Given the description of an element on the screen output the (x, y) to click on. 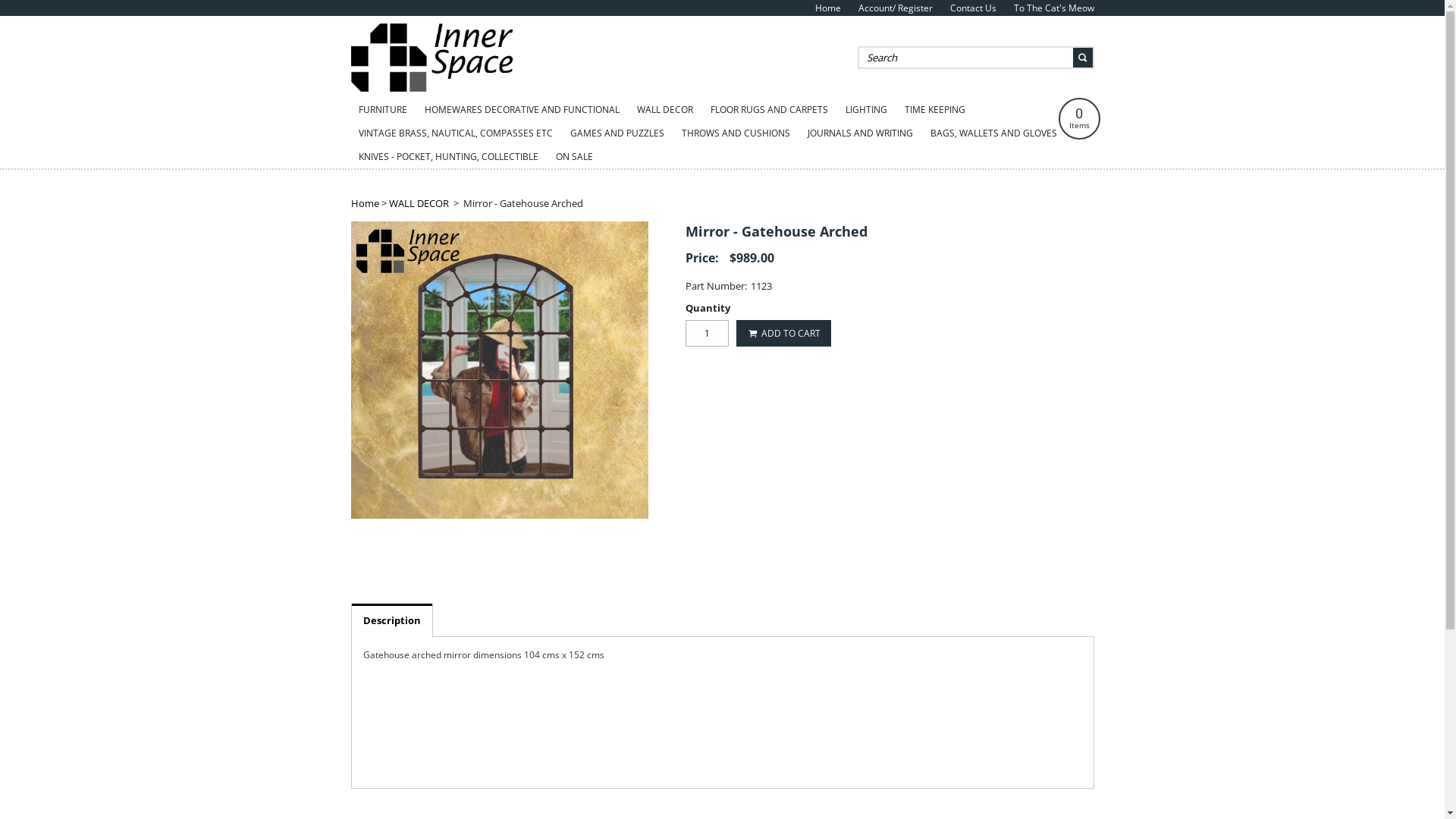
Contact Us Element type: text (972, 7)
To The Cat's Meow Element type: text (1053, 7)
Account/ Register Element type: text (895, 7)
WALL DECOR Element type: text (664, 109)
Home Element type: text (364, 203)
Home Element type: text (827, 7)
Description Element type: text (391, 619)
BAGS, WALLETS AND GLOVES Element type: text (992, 133)
HOMEWARES DECORATIVE AND FUNCTIONAL Element type: text (522, 109)
FLOOR RUGS AND CARPETS Element type: text (768, 109)
WALL DECOR Element type: text (418, 203)
FURNITURE Element type: text (382, 109)
TIME KEEPING Element type: text (934, 109)
ON SALE Element type: text (573, 156)
LIGHTING Element type: text (865, 109)
JOURNALS AND WRITING Element type: text (859, 133)
ADD TO CART Element type: text (783, 333)
THROWS AND CUSHIONS Element type: text (735, 133)
KNIVES - POCKET, HUNTING, COLLECTIBLE Element type: text (447, 156)
home Element type: text (433, 87)
0
Items Element type: text (1079, 118)
VINTAGE BRASS, NAUTICAL, COMPASSES ETC Element type: text (454, 133)
GAMES AND PUZZLES Element type: text (616, 133)
